Given the description of an element on the screen output the (x, y) to click on. 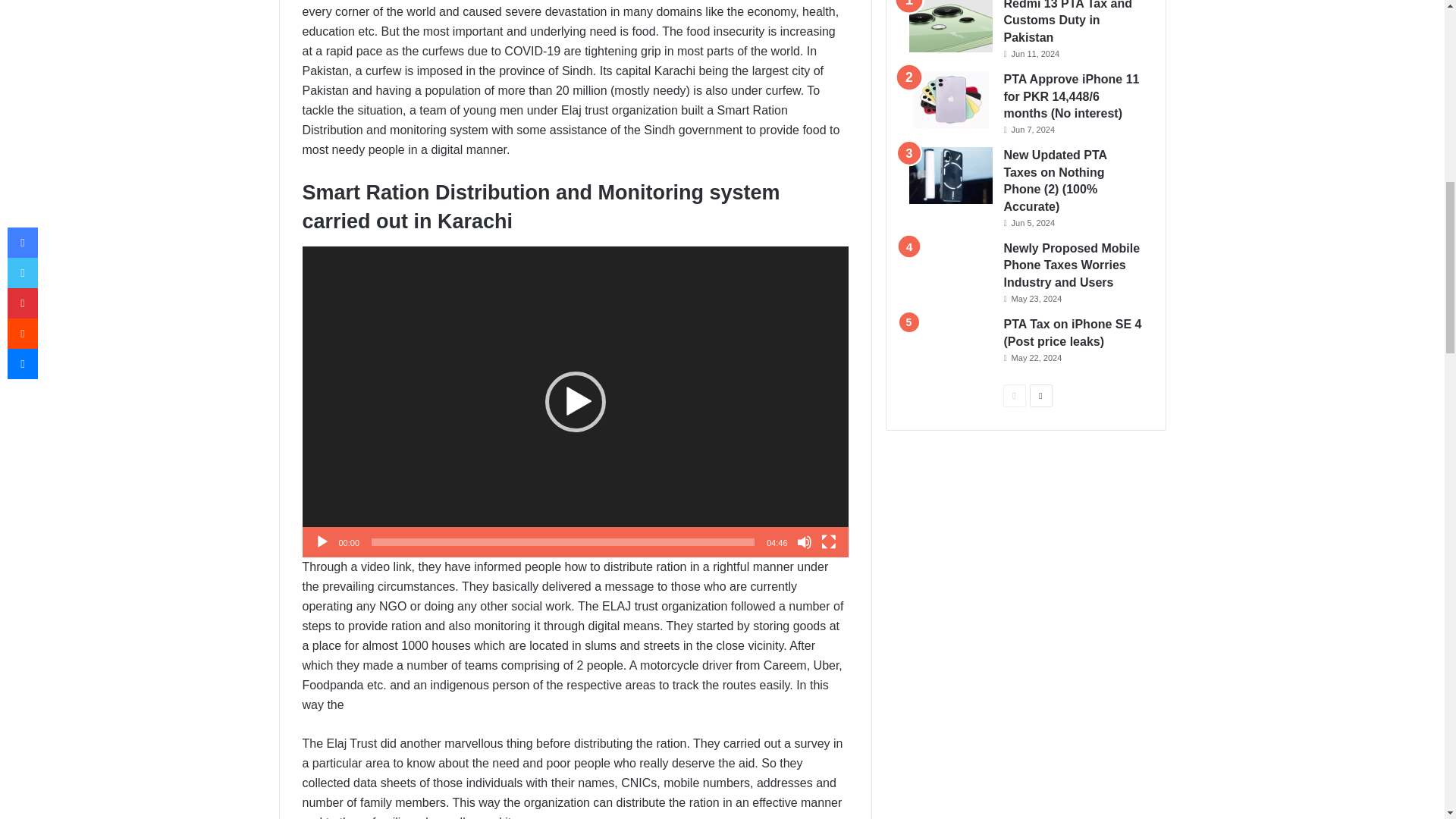
Play (321, 541)
Mute (803, 541)
